Given the description of an element on the screen output the (x, y) to click on. 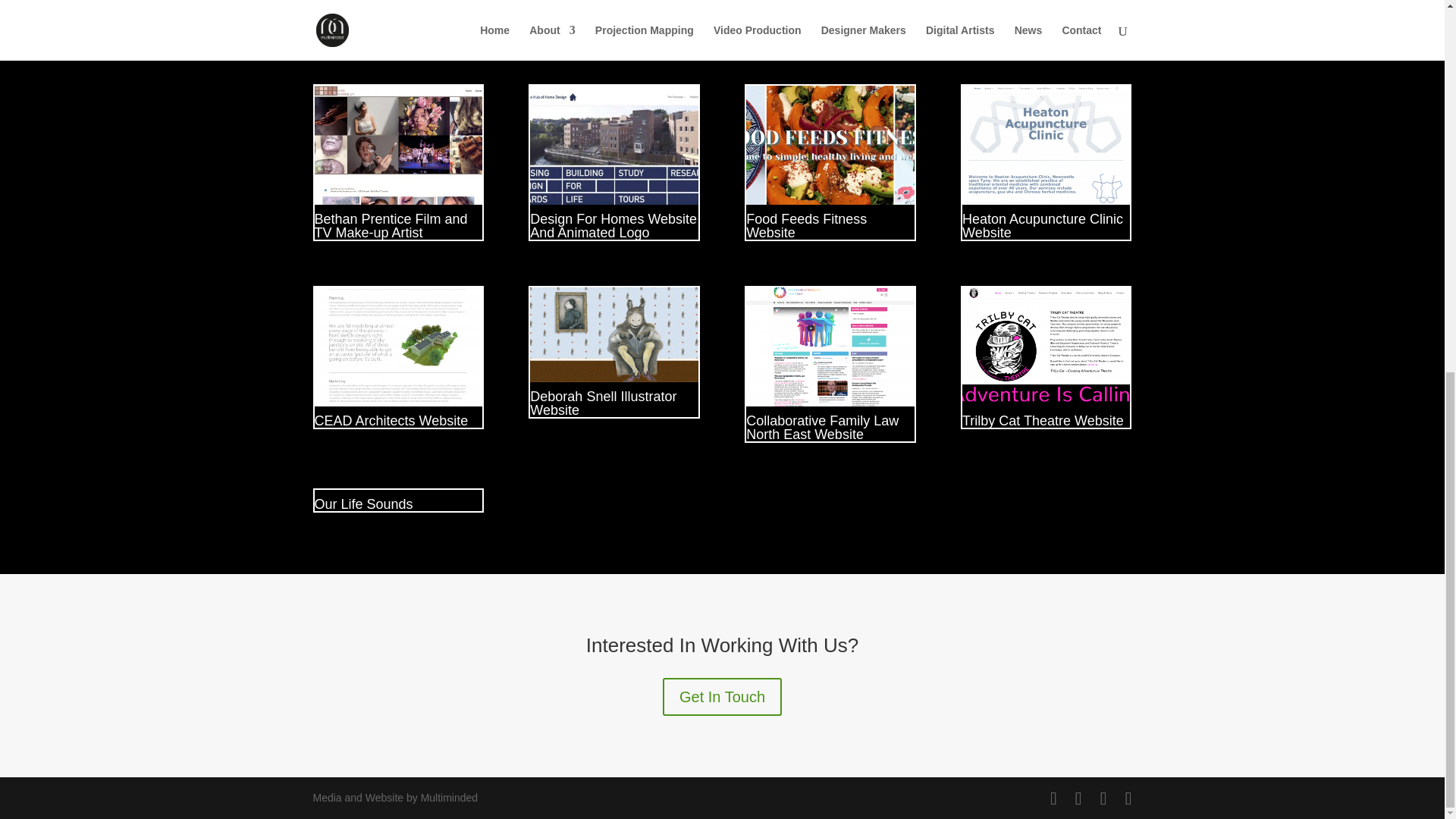
Bethan Prentice Film and TV Make-up Artist (390, 225)
CEAD Architects Website (397, 346)
Design For Homes Website And Animated Logo (613, 225)
Design For Homes Website And Animated Logo (613, 225)
Deborah Snell Illustrator Website (603, 403)
CEAD Architects Website (390, 420)
Food Feeds Fitness Website (829, 144)
Heaton Acupuncture Clinic Website (1045, 144)
Bethan Prentice Film and TV Make-up Artist (390, 225)
Design For Homes Website And Animated Logo (613, 144)
